Given the description of an element on the screen output the (x, y) to click on. 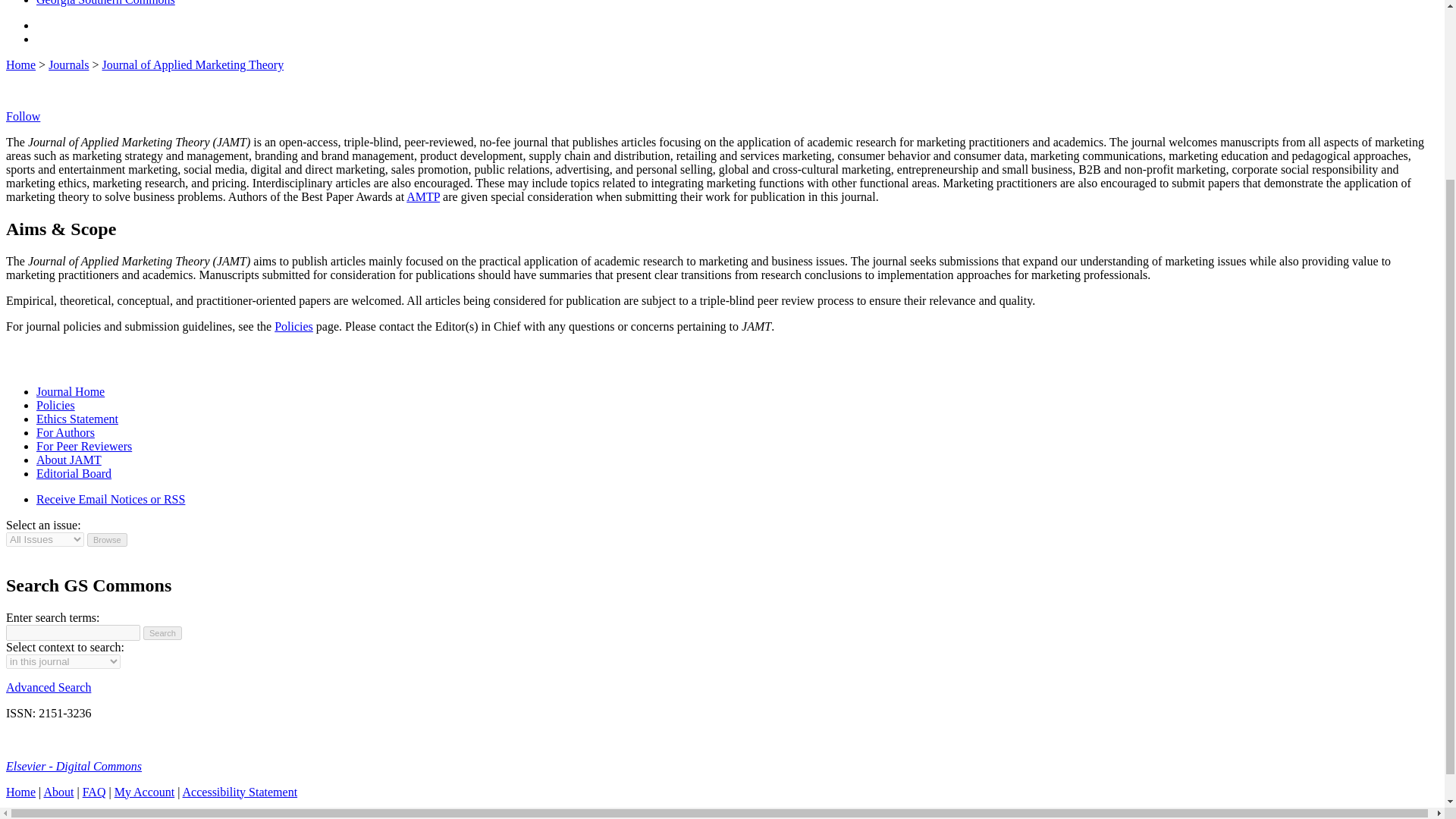
Home (105, 2)
Search (162, 632)
Follow Journal of Applied Marketing Theory (22, 115)
About JAMT (68, 459)
About (58, 791)
Policies (55, 404)
Receive notifications of new content (110, 499)
Journal of Applied Marketing Theory (70, 391)
Home page (19, 791)
Browse (107, 540)
Ethics Statement (76, 418)
Accessibility Statement (240, 791)
Advanced Search (47, 686)
Elsevier - Digital Commons (73, 766)
Georgia Southern Commons (105, 2)
